Given the description of an element on the screen output the (x, y) to click on. 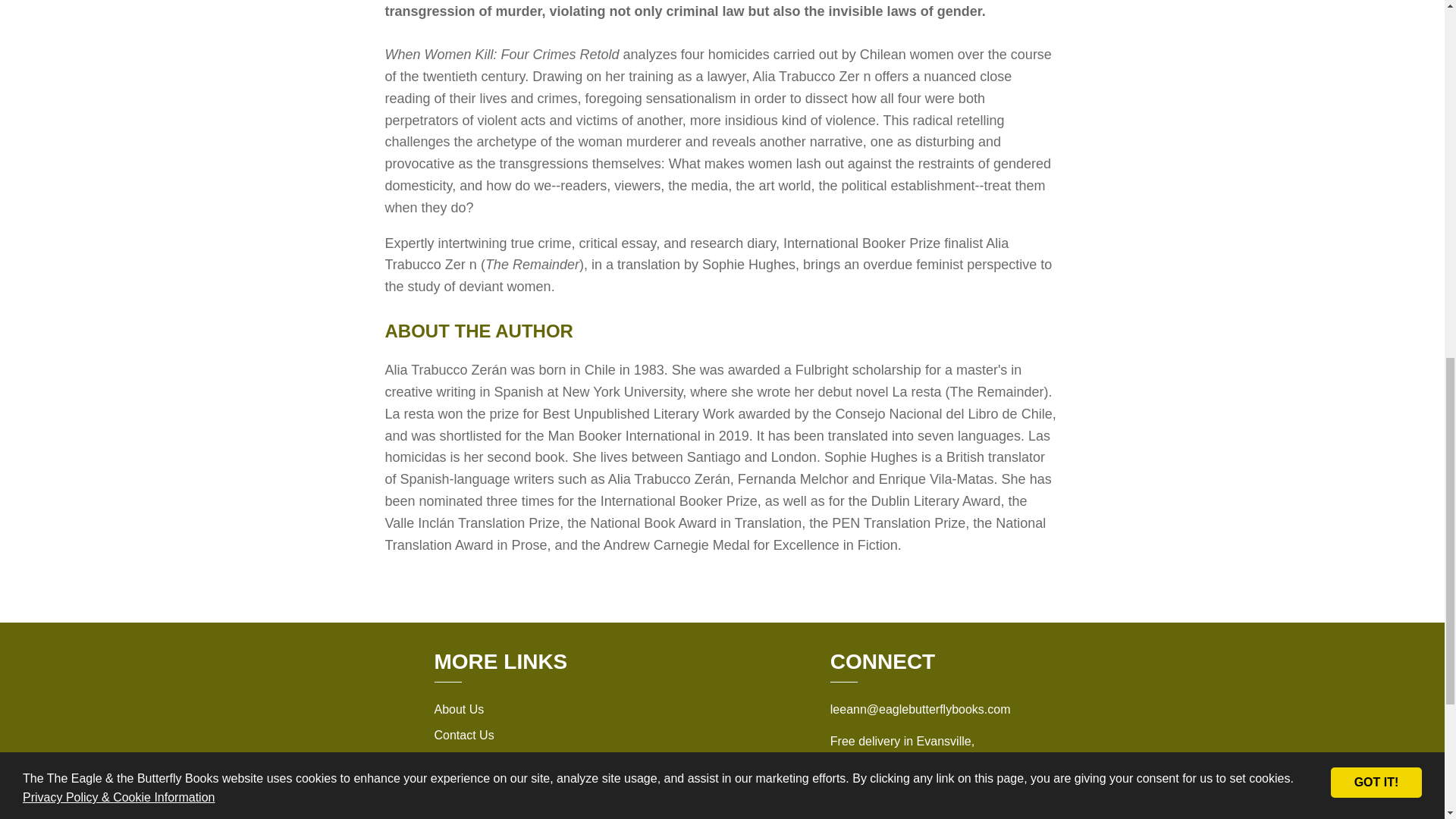
About Us (458, 708)
Contact Us (463, 735)
Here Too Healing Arts Services (903, 801)
GOT IT! (1376, 59)
